Given the description of an element on the screen output the (x, y) to click on. 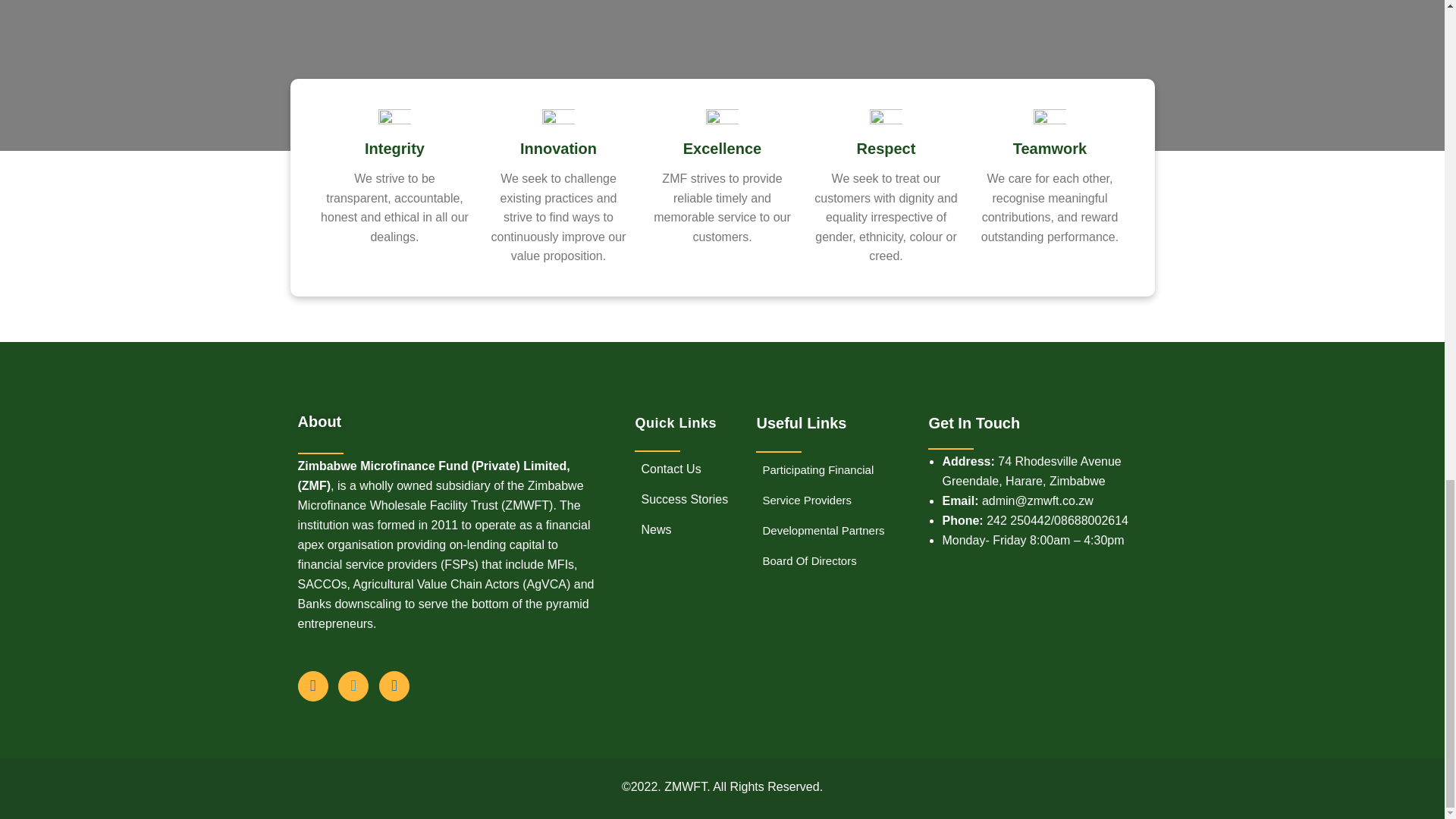
Developmental Partners (819, 530)
Participating Financial Service Providers (822, 485)
Board Of Directors (805, 561)
News (652, 530)
Success Stories (681, 499)
Contact Us (667, 469)
